Given the description of an element on the screen output the (x, y) to click on. 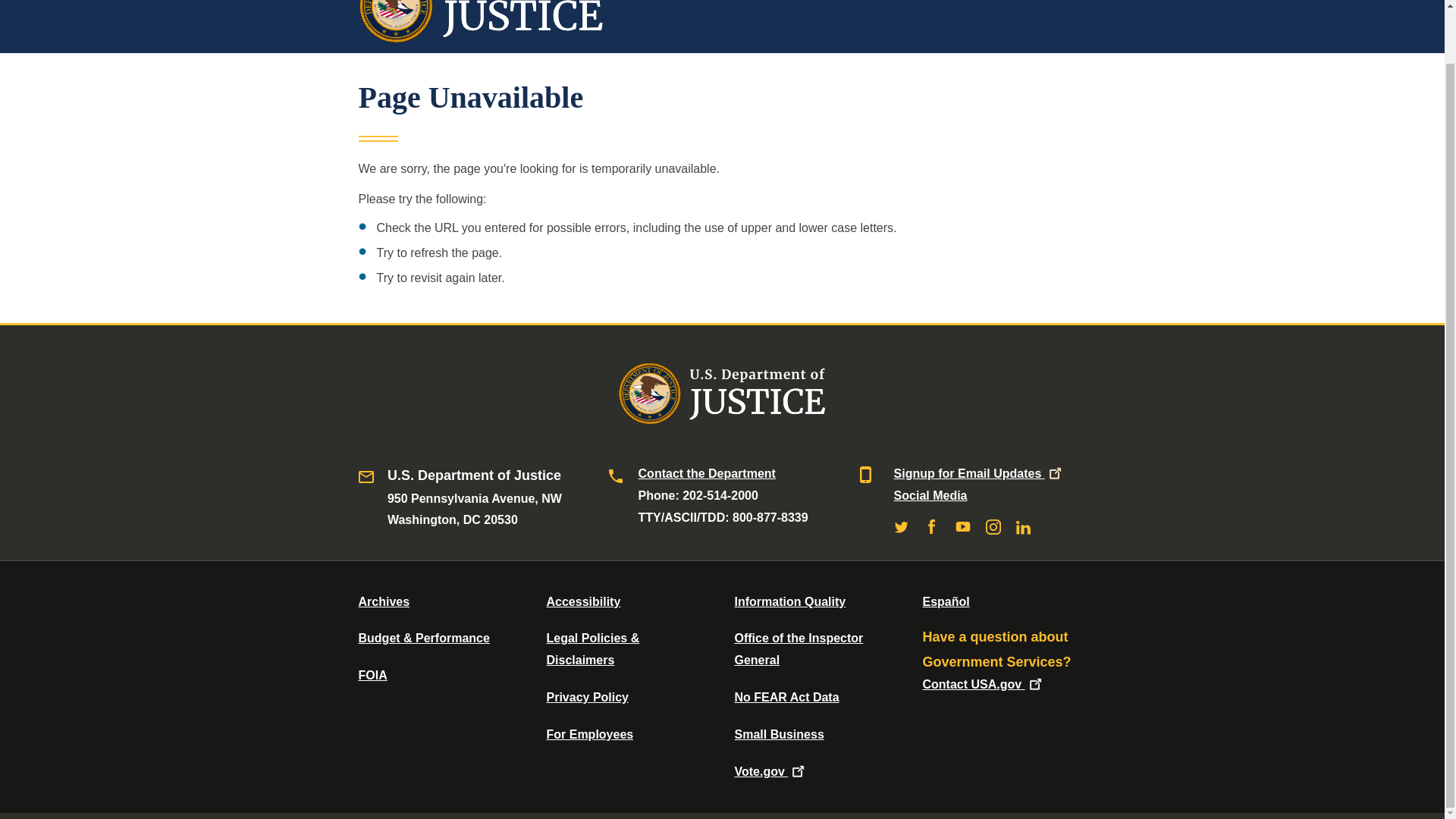
No FEAR Act Data (785, 697)
FOIA (372, 675)
Vote.gov (770, 771)
For Employees (589, 734)
Information Quality (789, 601)
Home (481, 35)
Privacy Policy (587, 697)
Contact USA.gov (982, 684)
Archives (383, 601)
Small Business (778, 734)
Social Media (930, 495)
Signup for Email Updates (978, 472)
Contact the Department (707, 472)
Accessibility (583, 601)
Office of the Inspector General (798, 648)
